Given the description of an element on the screen output the (x, y) to click on. 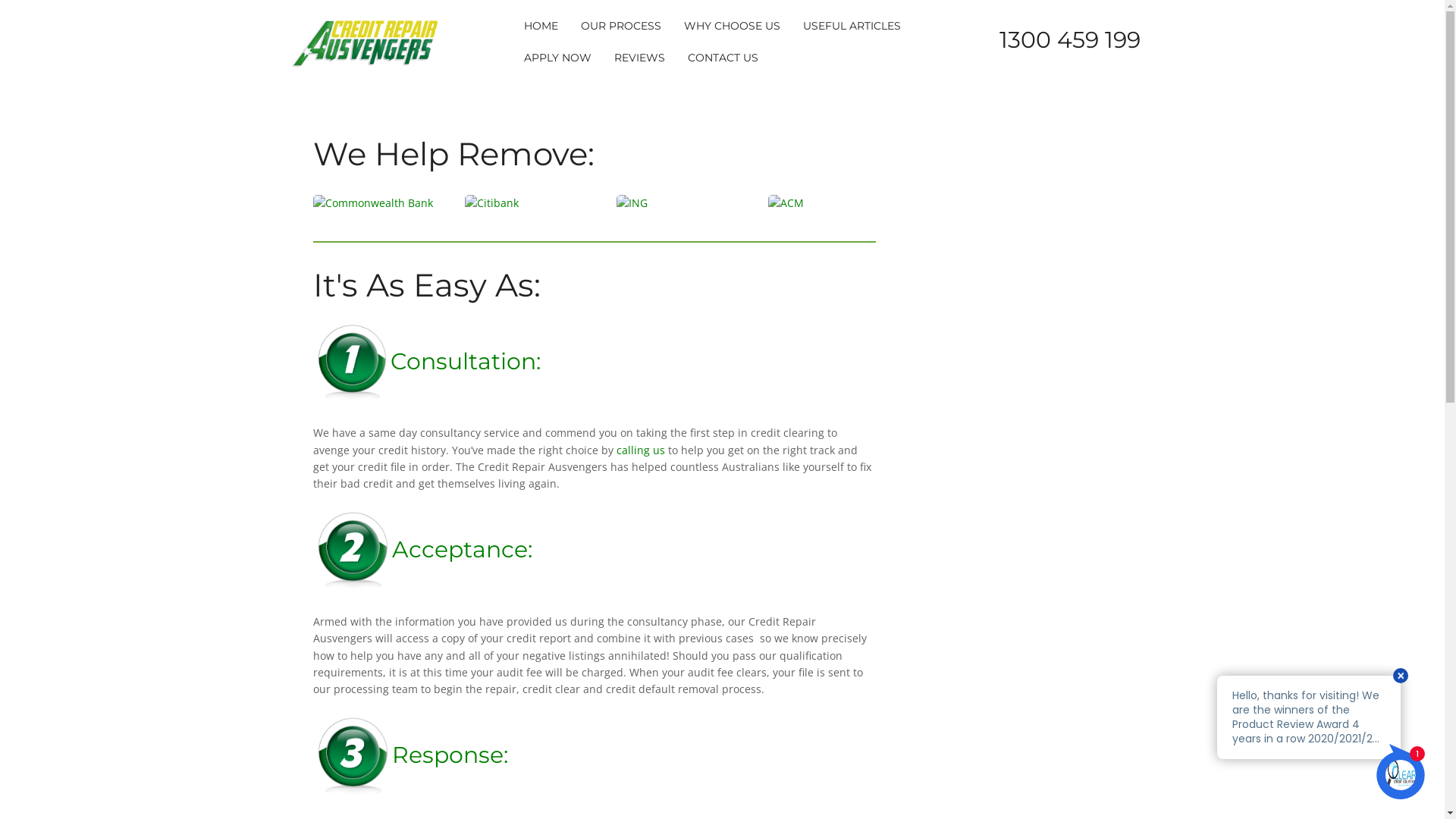
REVIEWS Element type: text (639, 57)
ING Element type: hover (679, 202)
CONTACT US Element type: text (722, 57)
Chat with us Element type: hover (1321, 737)
Skip to content Element type: text (0, 0)
Credit Repair Ausvengers Element type: hover (365, 40)
HOME Element type: text (540, 25)
ACM Element type: hover (831, 202)
Citibank Element type: hover (528, 202)
USEFUL ARTICLES Element type: text (851, 25)
APPLY NOW Element type: text (557, 57)
WHY CHOOSE US Element type: text (731, 25)
Commonwealth Bank Element type: hover (376, 202)
calling us Element type: text (639, 449)
OUR PROCESS Element type: text (620, 25)
